Given the description of an element on the screen output the (x, y) to click on. 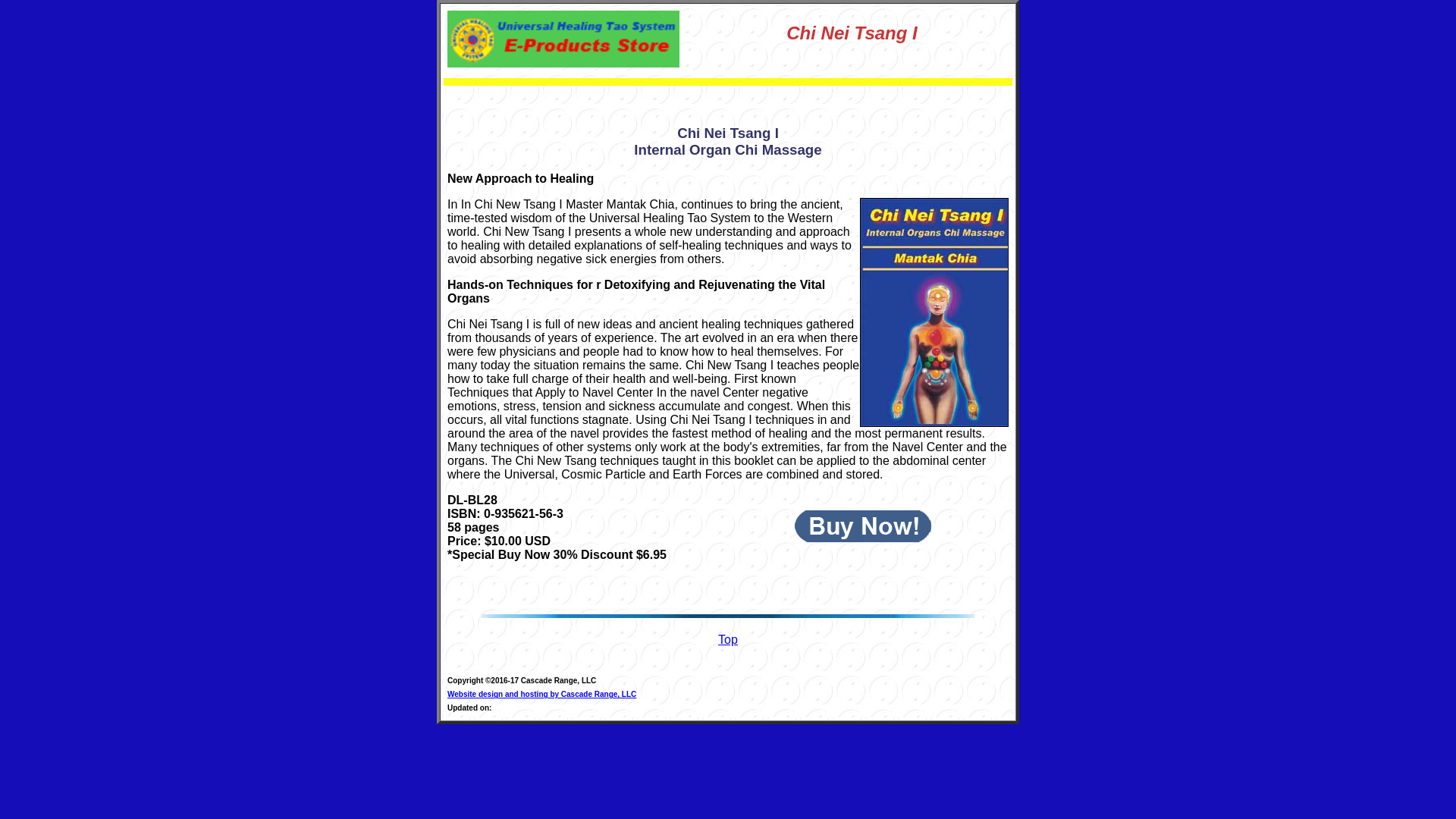
 Buy Now  (862, 526)
Top (727, 639)
Website design and hosting by Cascade Range, LLC (541, 694)
